Given the description of an element on the screen output the (x, y) to click on. 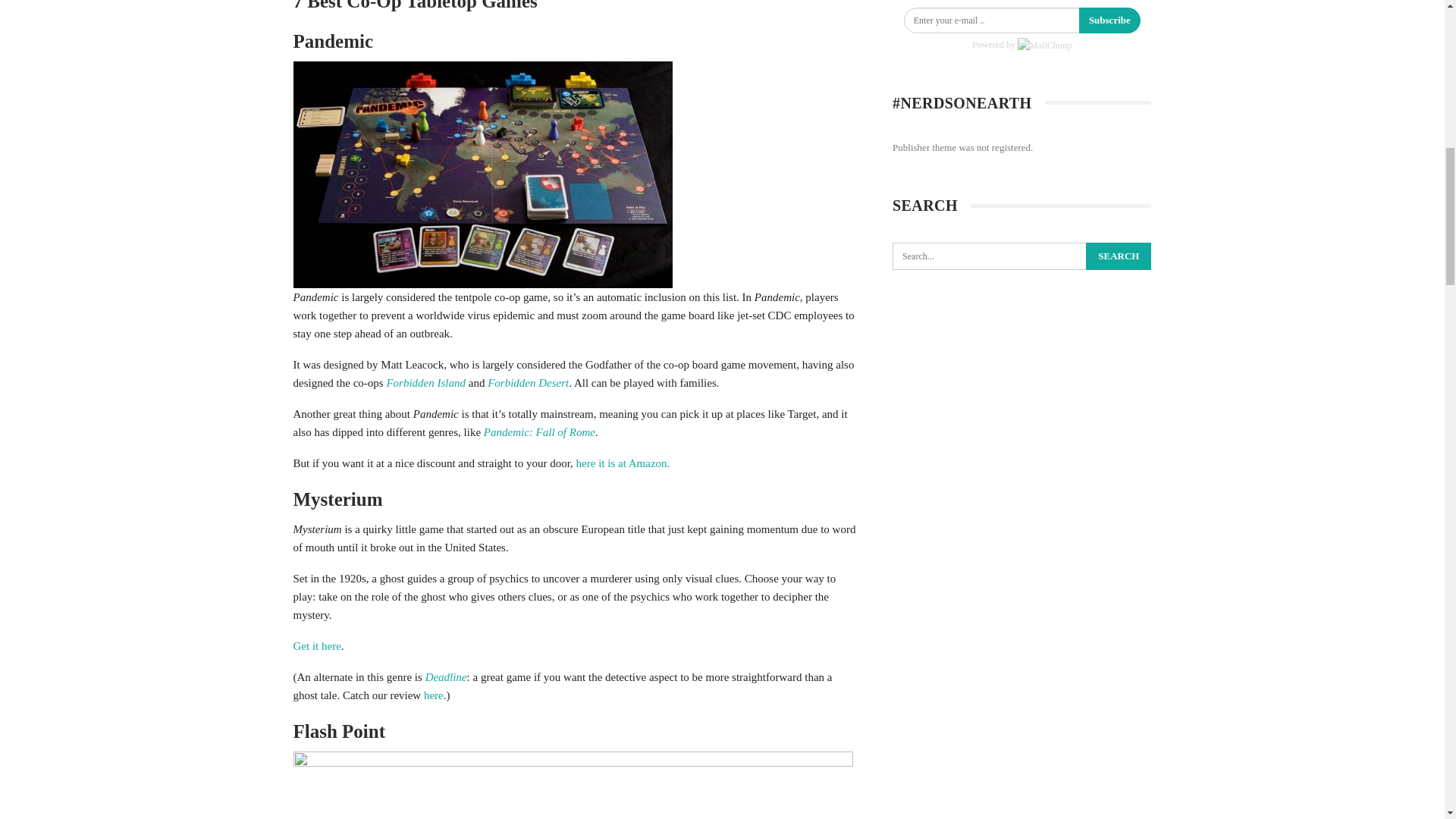
Search (1118, 256)
Search for: (1021, 256)
Search (1118, 256)
